Given the description of an element on the screen output the (x, y) to click on. 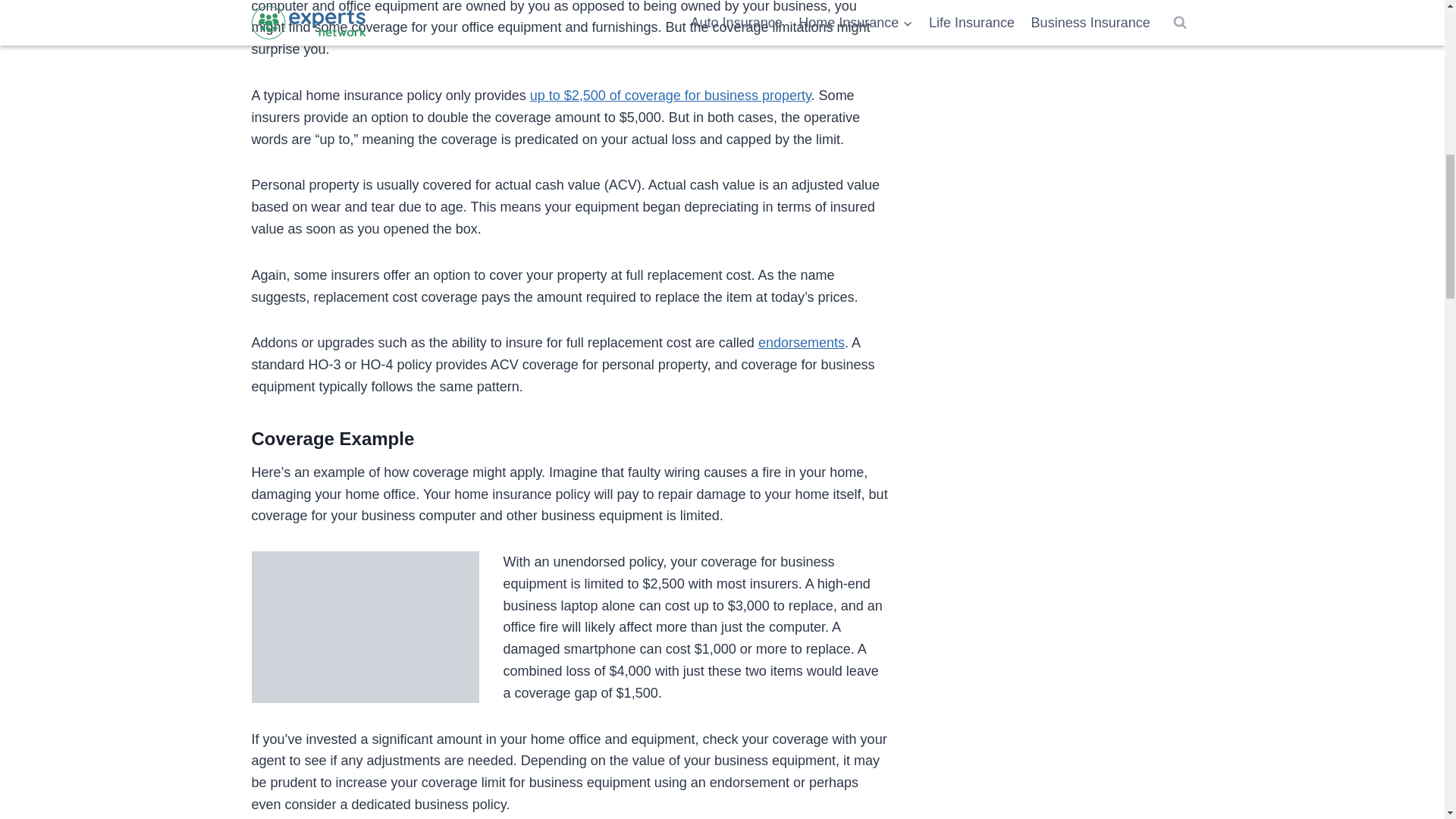
endorsements (801, 342)
